Given the description of an element on the screen output the (x, y) to click on. 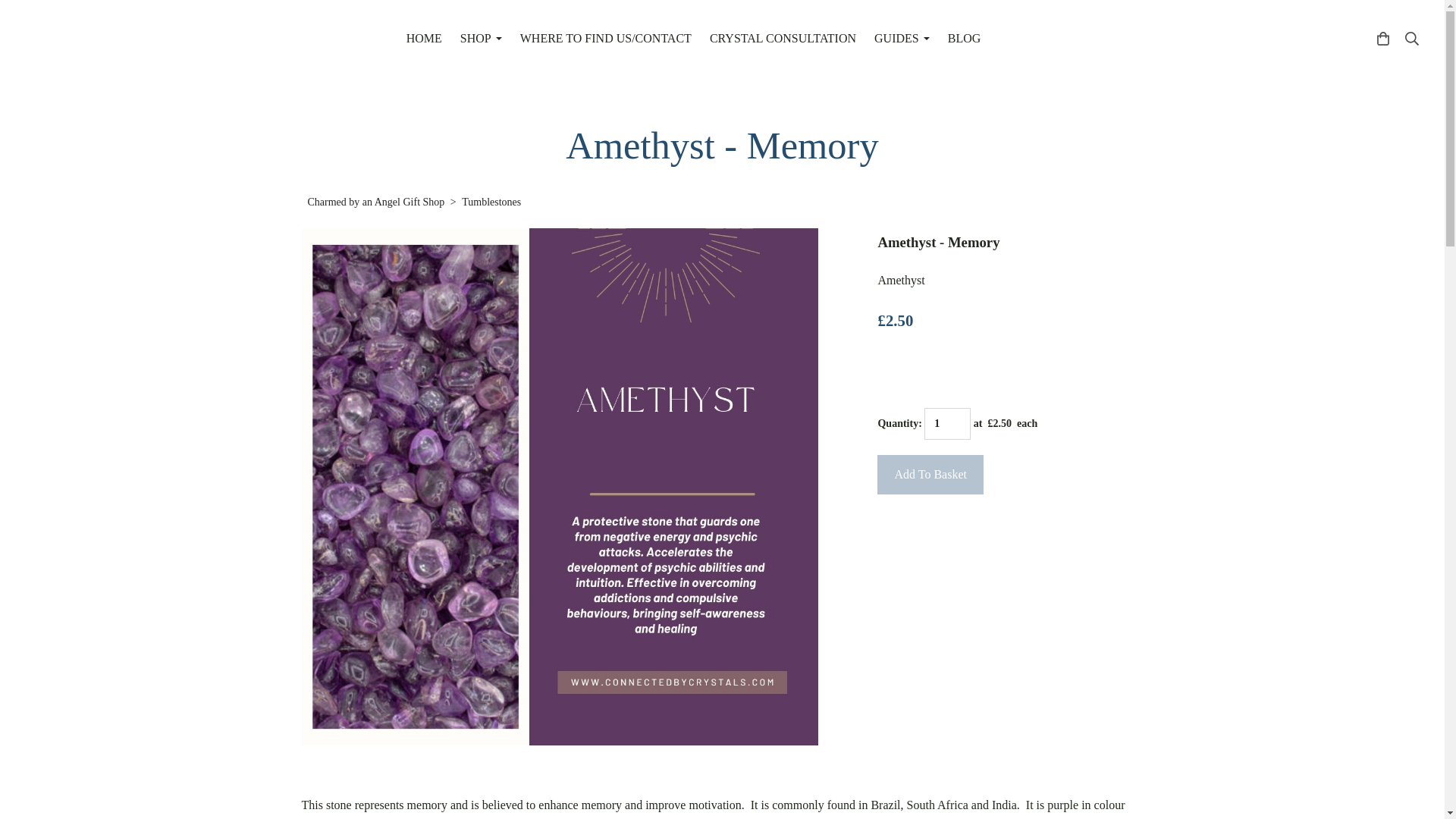
1 (947, 423)
HOME (424, 38)
SHOP (481, 38)
